Given the description of an element on the screen output the (x, y) to click on. 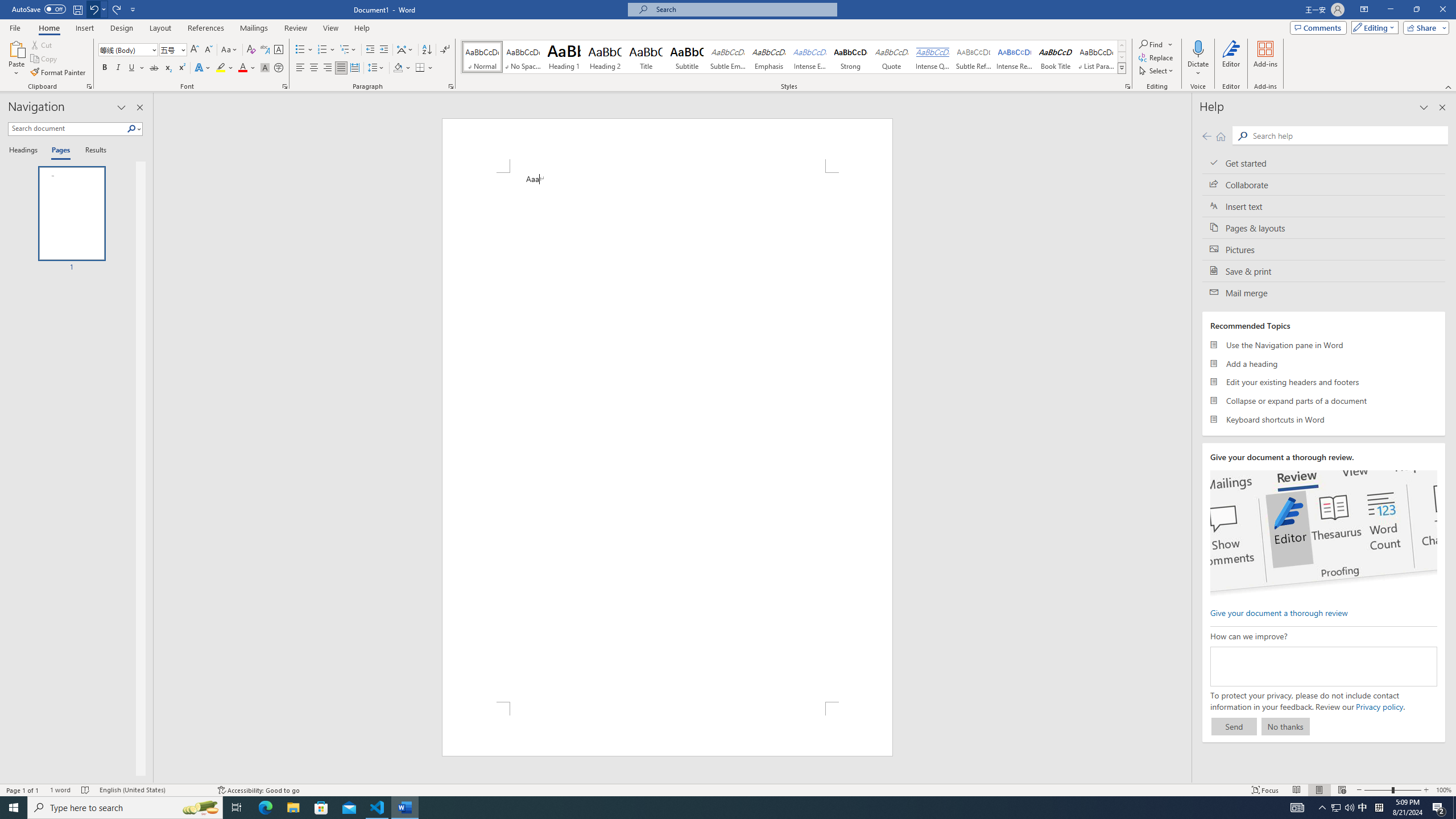
Quick Access Toolbar (74, 9)
Row up (1121, 45)
File Tab (15, 27)
Paste (16, 58)
Dictate (1197, 48)
Bullets (300, 49)
Search document (66, 128)
Quote (891, 56)
Book Title (1055, 56)
Styles (1121, 67)
Numbering (322, 49)
How can we improve? (1323, 666)
Line and Paragraph Spacing (376, 67)
No thanks (1285, 726)
